Given the description of an element on the screen output the (x, y) to click on. 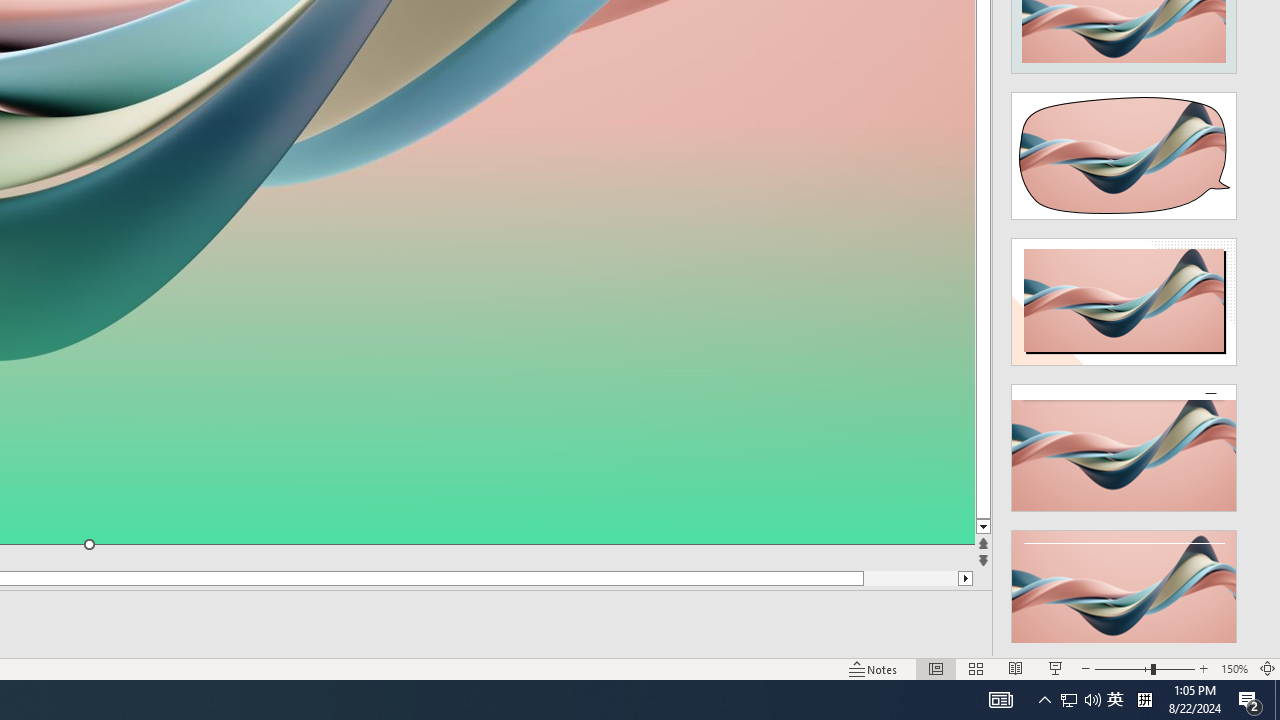
Zoom 150% (1234, 668)
